Given the description of an element on the screen output the (x, y) to click on. 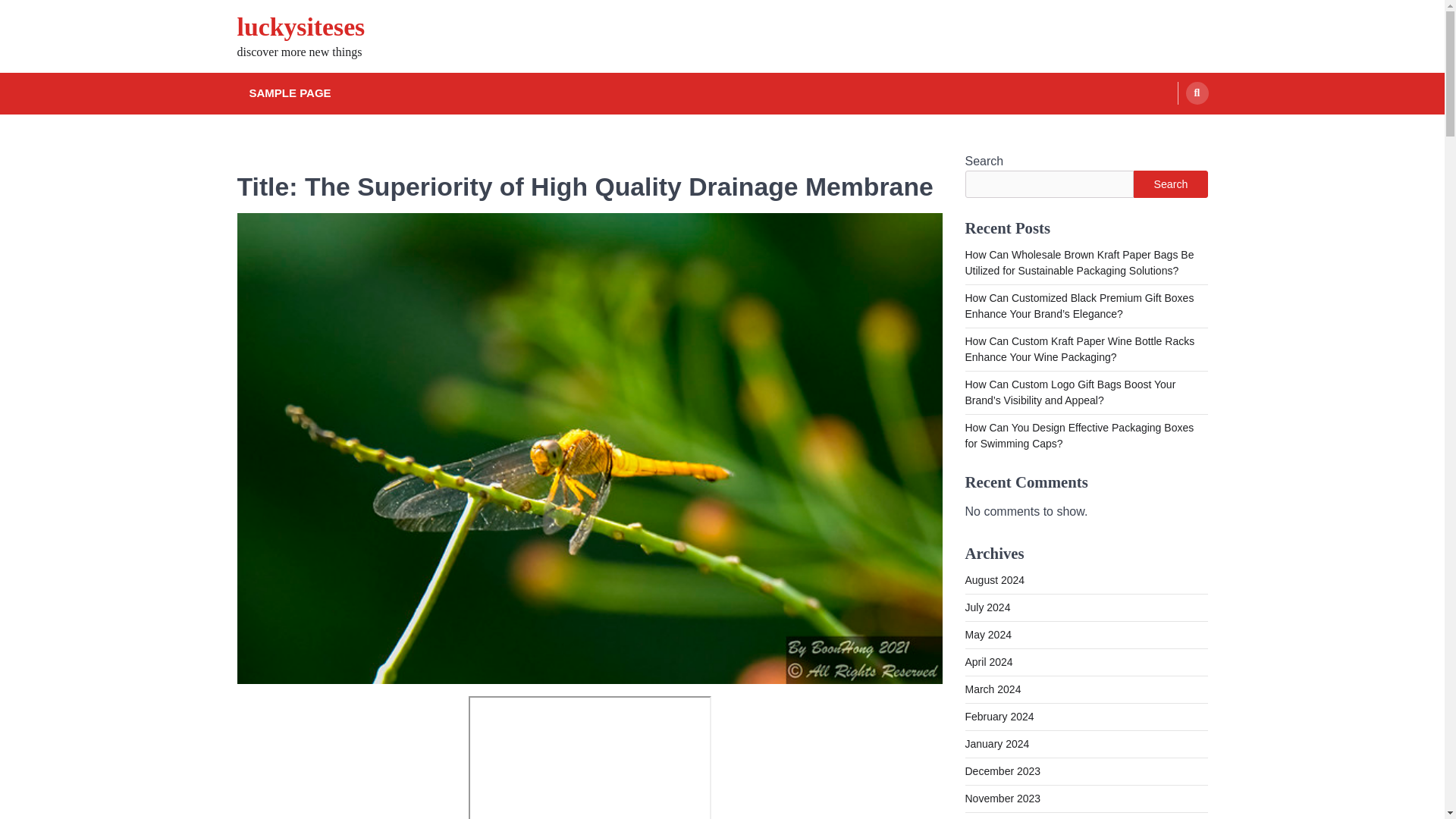
March 2024 (991, 689)
February 2024 (998, 716)
May 2024 (986, 634)
Search (1168, 128)
Search (1170, 184)
April 2024 (987, 662)
July 2024 (986, 607)
SAMPLE PAGE (289, 93)
